Given the description of an element on the screen output the (x, y) to click on. 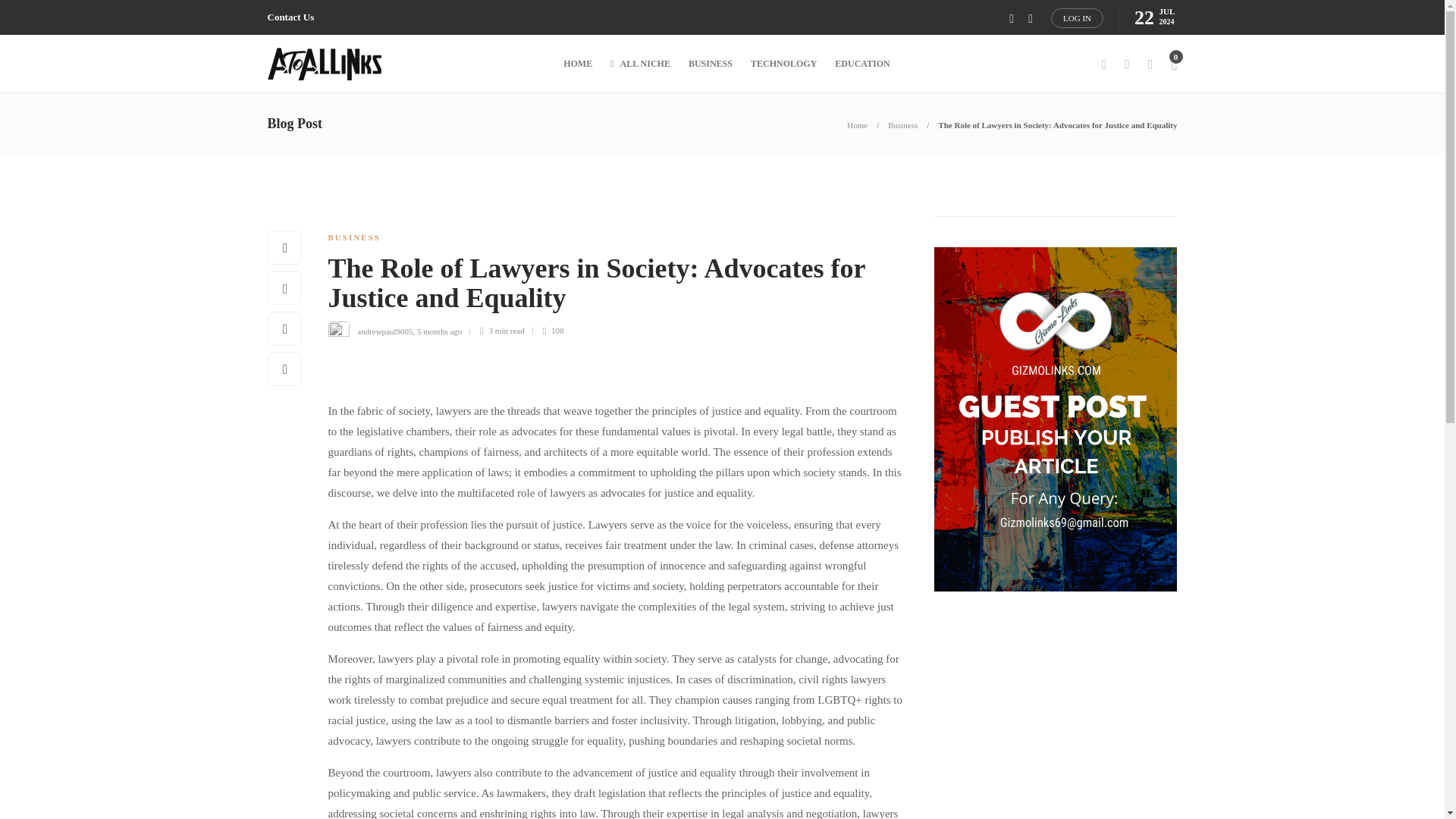
5 months ago (438, 329)
ALL NICHE (639, 63)
Business (902, 124)
andrewpaul9005 (384, 329)
EDUCATION (861, 63)
TECHNOLOGY (783, 63)
Contact Us (290, 17)
Home (857, 124)
BUSINESS (353, 236)
LOG IN (1077, 17)
Home (857, 124)
